Given the description of an element on the screen output the (x, y) to click on. 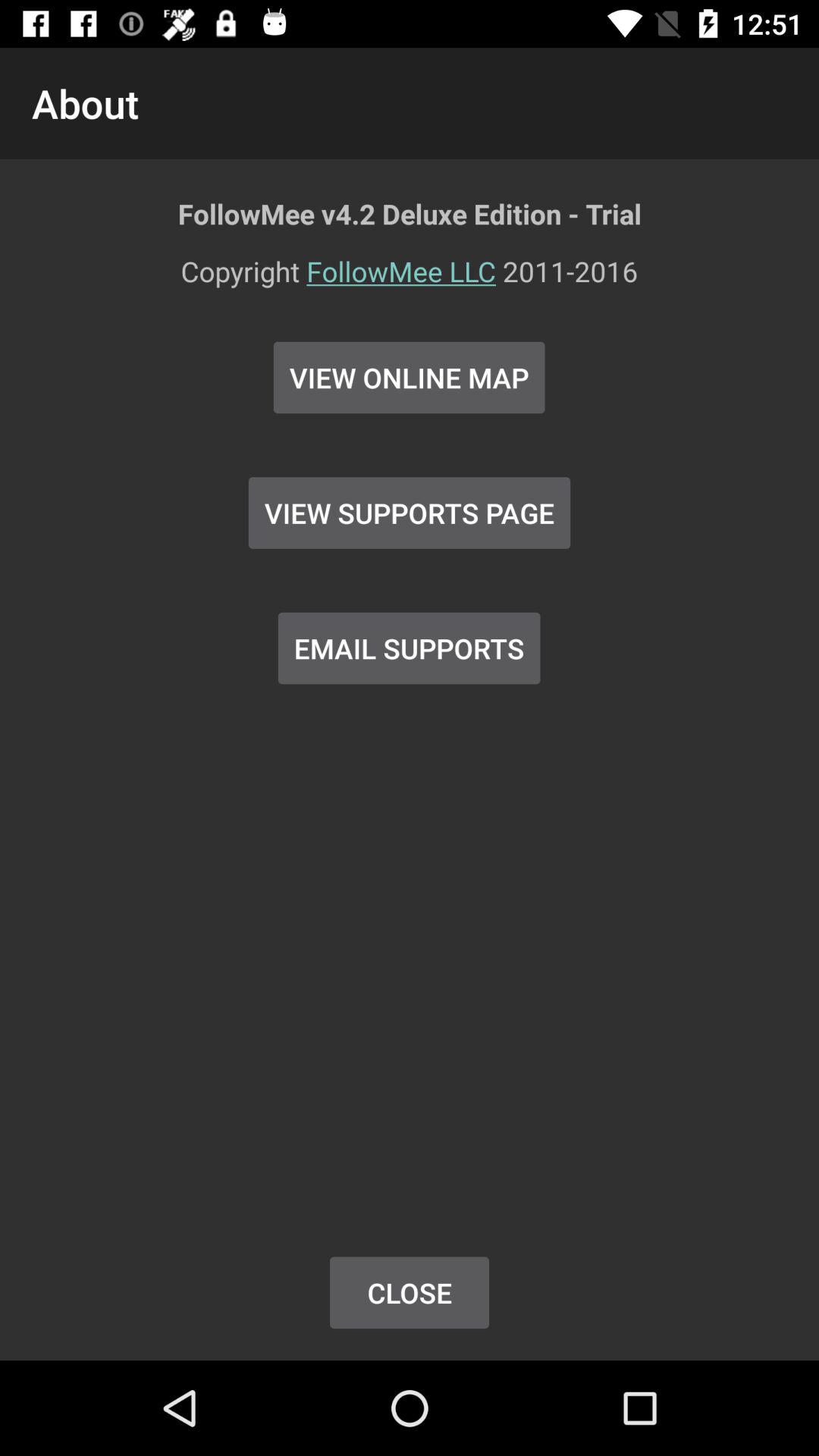
click button below email supports item (409, 1292)
